Given the description of an element on the screen output the (x, y) to click on. 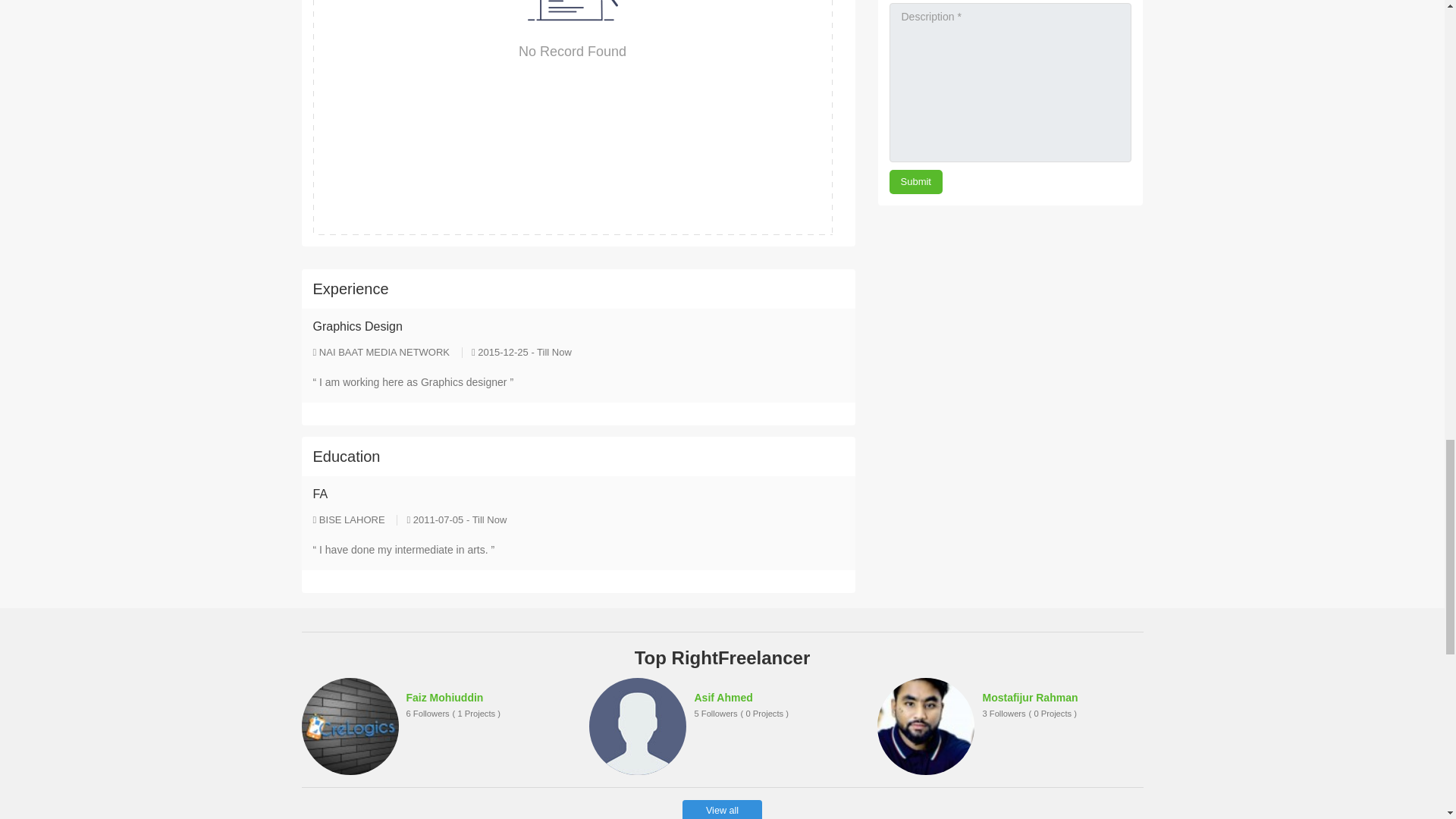
Submit (915, 181)
Submit (915, 181)
